Given the description of an element on the screen output the (x, y) to click on. 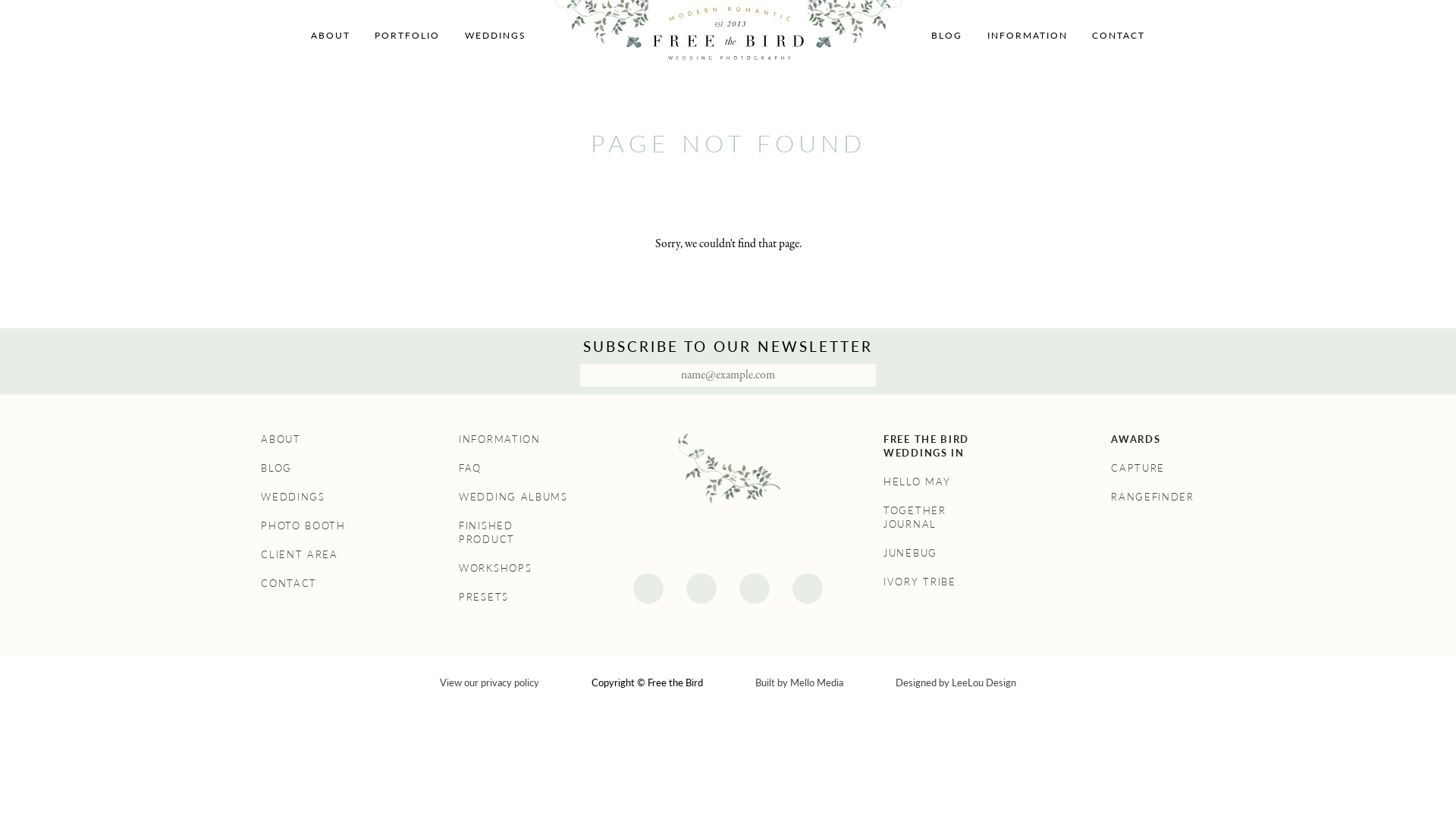
Designed by LeeLou Design Element type: text (955, 682)
PHOTO BOOTH Element type: text (302, 525)
RANGEFINDER Element type: text (1152, 496)
WEDDING ALBUMS Element type: text (512, 496)
PRESETS Element type: text (483, 596)
INFORMATION Element type: text (1027, 34)
BLOG Element type: text (946, 34)
PORTFOLIO Element type: text (406, 34)
Built by Mello Media Element type: text (799, 682)
BLOG Element type: text (275, 467)
WEDDINGS Element type: text (292, 496)
FAQ Element type: text (469, 467)
TOGETHER JOURNAL Element type: text (914, 516)
WORKSHOPS Element type: text (494, 567)
View our privacy policy Element type: text (489, 682)
CONTACT Element type: text (1118, 34)
JUNEBUG Element type: text (910, 552)
CAPTURE Element type: text (1137, 467)
CONTACT Element type: text (288, 582)
INFORMATION Element type: text (499, 438)
FINISHED PRODUCT Element type: text (486, 532)
CLIENT AREA Element type: text (299, 554)
ABOUT Element type: text (330, 34)
IVORY TRIBE Element type: text (919, 581)
HELLO MAY Element type: text (916, 481)
ABOUT Element type: text (280, 438)
WEDDINGS Element type: text (495, 34)
